Given the description of an element on the screen output the (x, y) to click on. 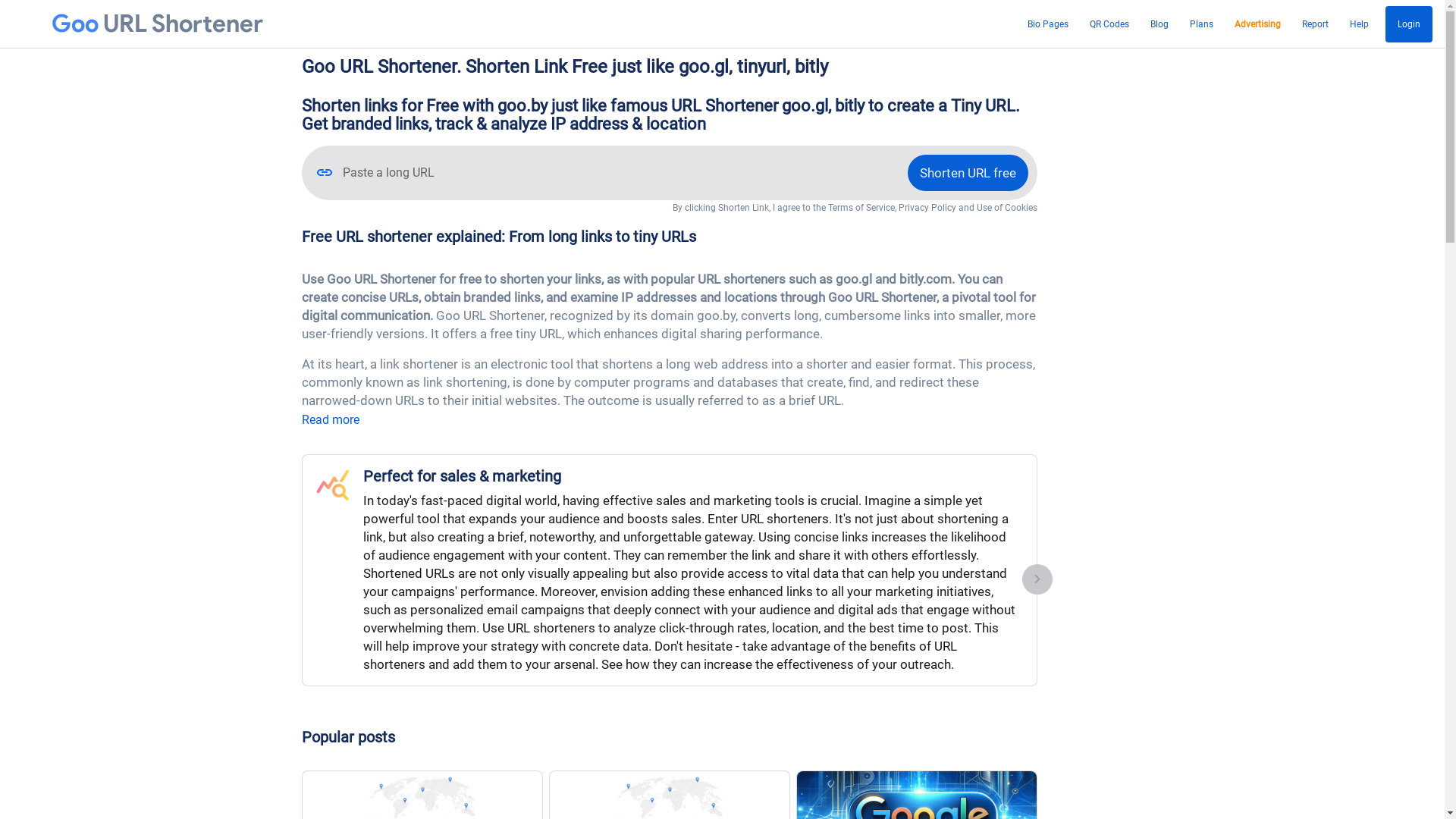
Bio Pages Element type: text (1047, 24)
Report Element type: text (1315, 24)
Advertising Element type: text (1257, 24)
Plans Element type: text (1201, 24)
QR Codes Element type: text (1109, 24)
Shorten URL free Element type: text (966, 172)
Login Element type: text (1408, 24)
Help Element type: text (1359, 24)
Blog Element type: text (1159, 24)
Read more Element type: text (330, 419)
